Given the description of an element on the screen output the (x, y) to click on. 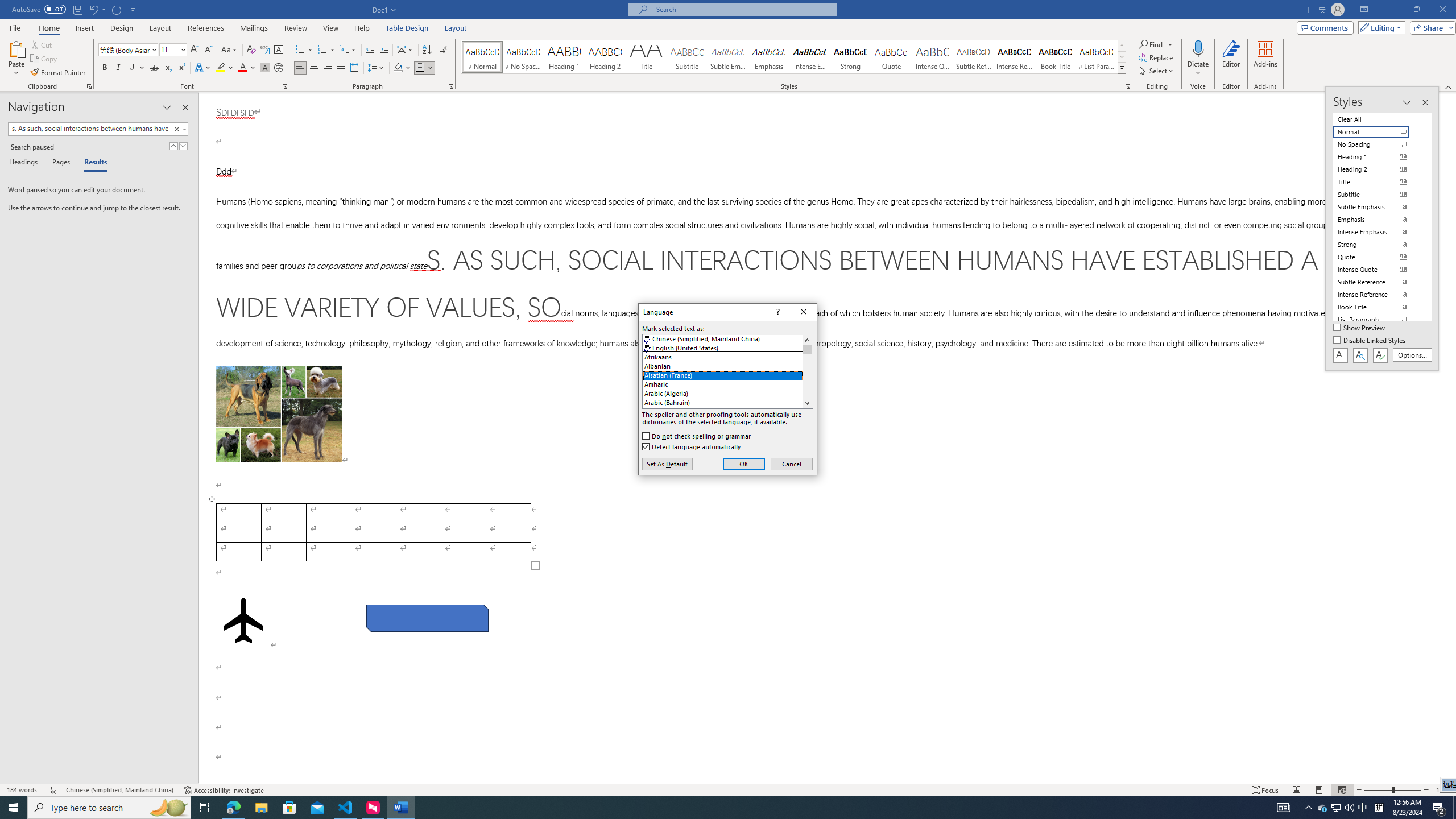
Language Chinese (Simplified, Mainland China) (119, 790)
AutomationID: QuickStylesGallery (794, 56)
Normal (1377, 131)
Notification Chevron (1308, 807)
Dictate (1197, 48)
Q2790: 100% (1349, 807)
Class: MsoCommandBar (728, 45)
Type here to search (108, 807)
Numbering (322, 49)
Font Color RGB(255, 0, 0) (241, 67)
Subtle Reference (973, 56)
Justify (340, 67)
Center (313, 67)
Intense Reference (1014, 56)
Font Color (246, 67)
